Given the description of an element on the screen output the (x, y) to click on. 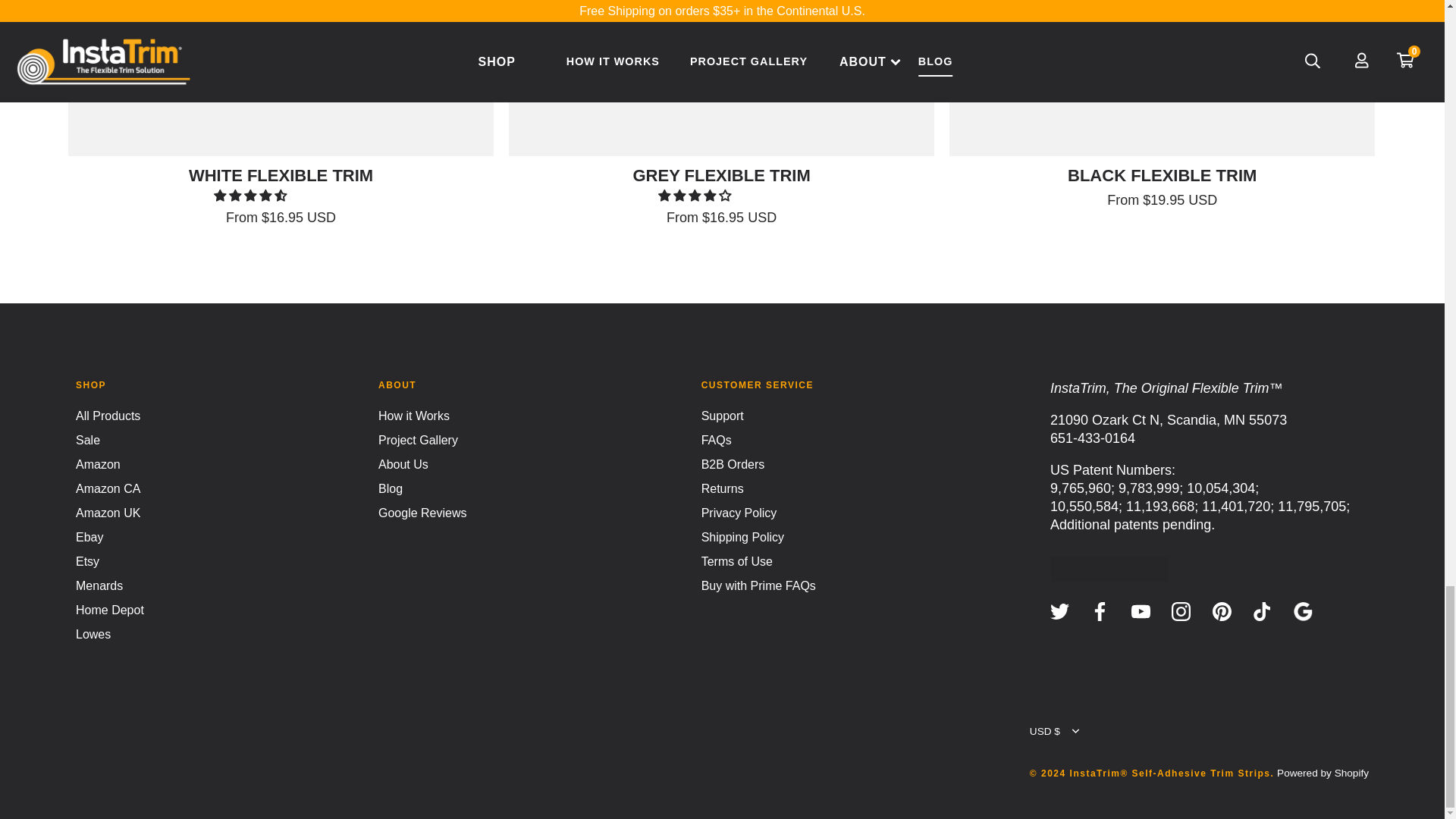
Twitter (1058, 610)
Pinterest (1221, 610)
Instagram (1181, 610)
Youtube (1140, 610)
